Given the description of an element on the screen output the (x, y) to click on. 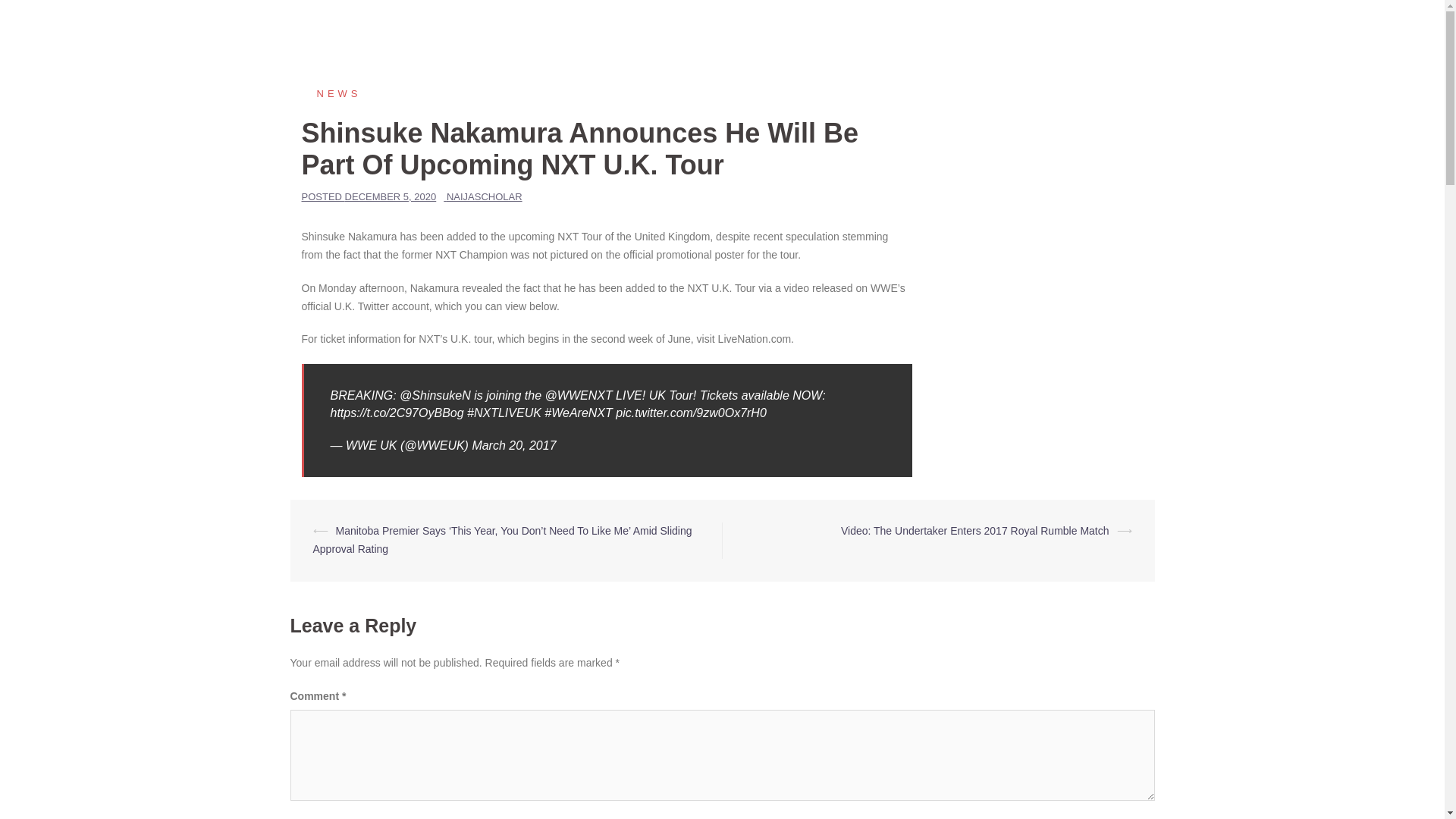
News (331, 93)
titanium nuts (1009, 29)
NAIJASCHOLAR (484, 196)
offaly gaa jerseys (1102, 29)
Story (892, 29)
Search (47, 18)
Video: The Undertaker Enters 2017 Royal Rumble Match (975, 530)
NEWS (331, 93)
DECEMBER 5, 2020 (390, 196)
NAIJASCHOLAR (385, 29)
Home (796, 29)
News (846, 29)
